Given the description of an element on the screen output the (x, y) to click on. 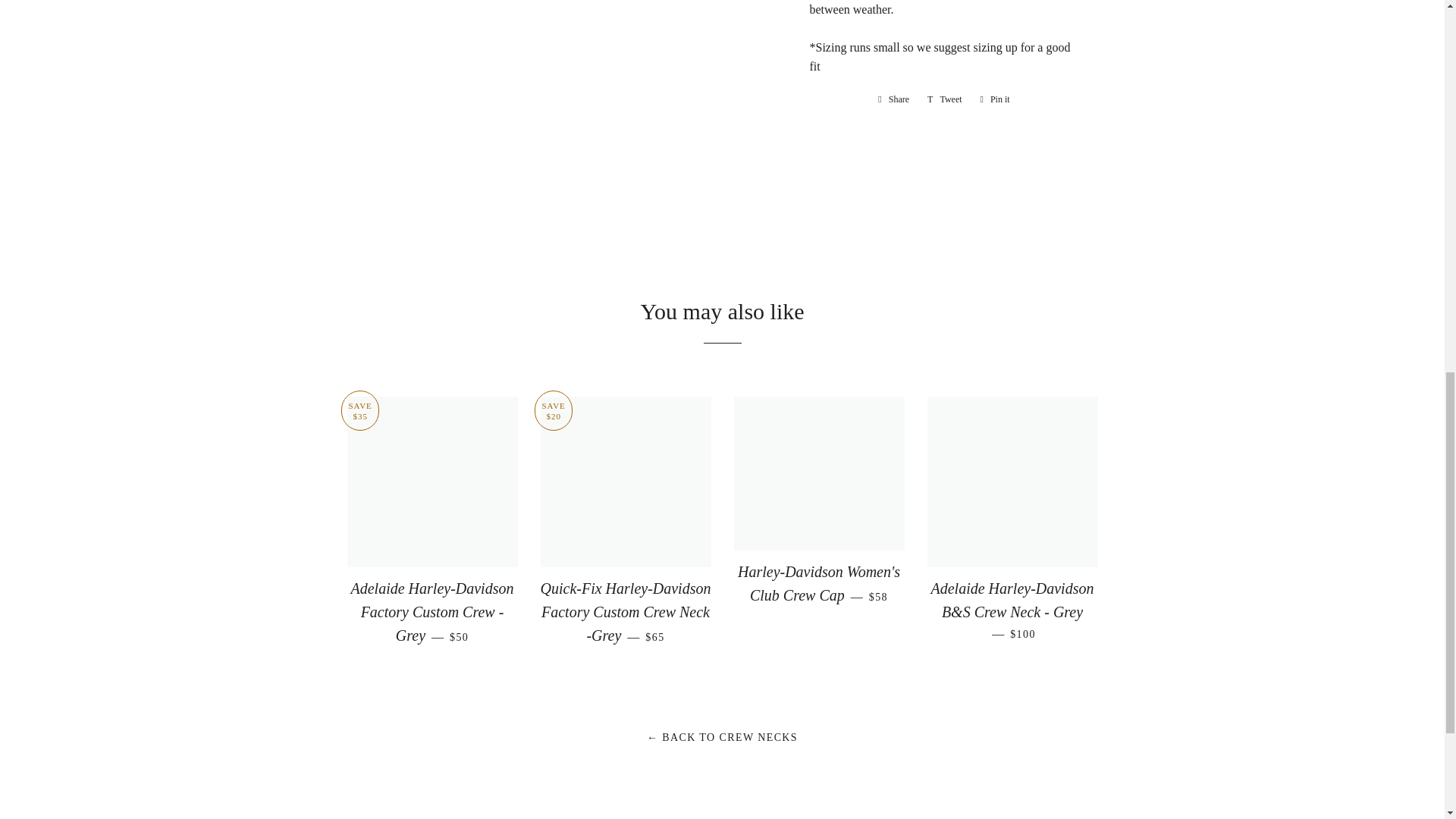
Tweet on Twitter (944, 98)
Pin on Pinterest (994, 98)
Share on Facebook (893, 98)
